Given the description of an element on the screen output the (x, y) to click on. 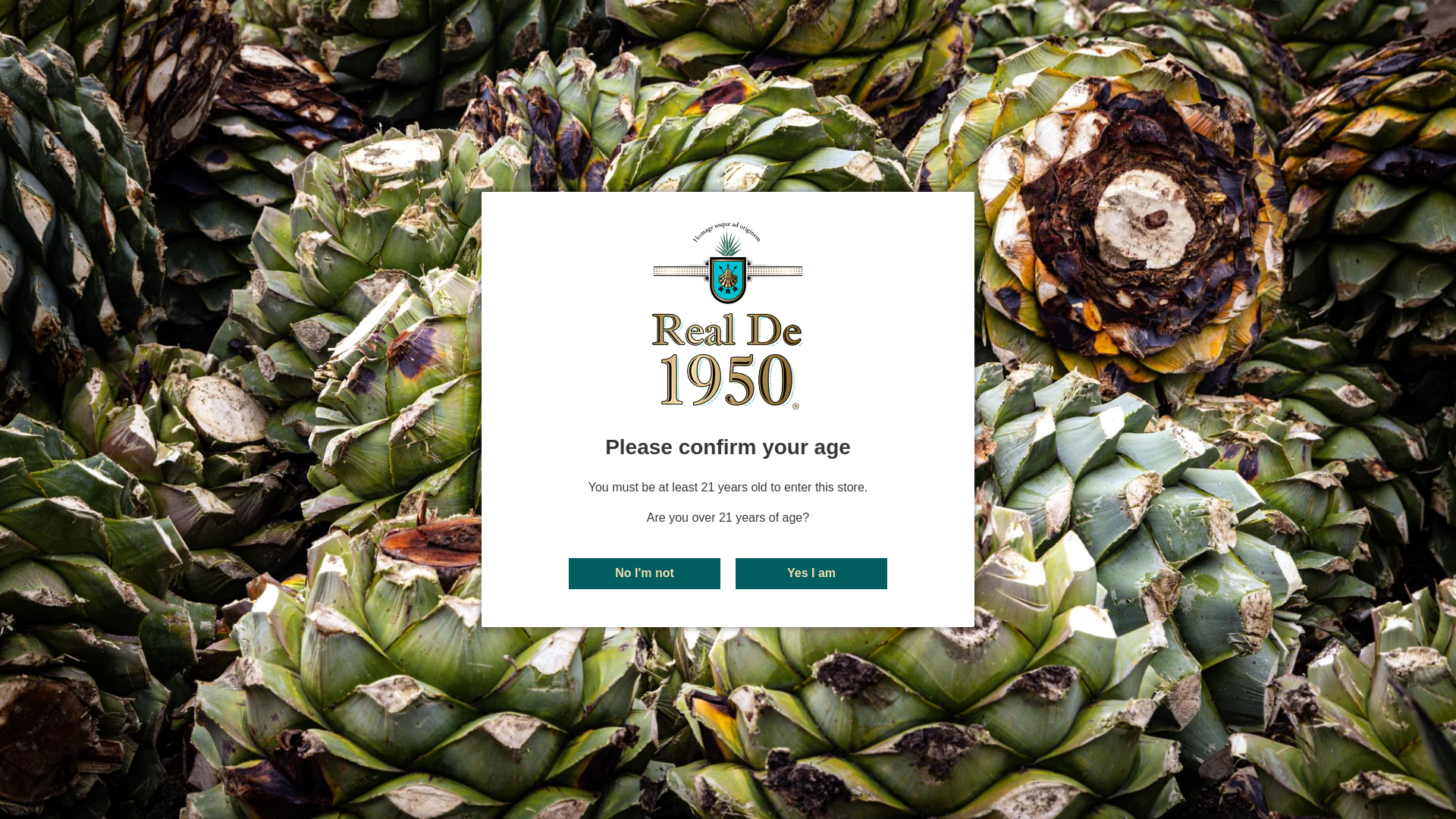
SHOP MERCHANDISE (1086, 62)
CART (1409, 62)
Log in (1330, 62)
ABOUT (918, 62)
NEWS (1258, 62)
MEZCAL (984, 62)
HOME (859, 62)
ACCOUNT (1330, 62)
Back to the frontpage (37, 143)
HOME (37, 143)
CONTACT (1192, 62)
